Given the description of an element on the screen output the (x, y) to click on. 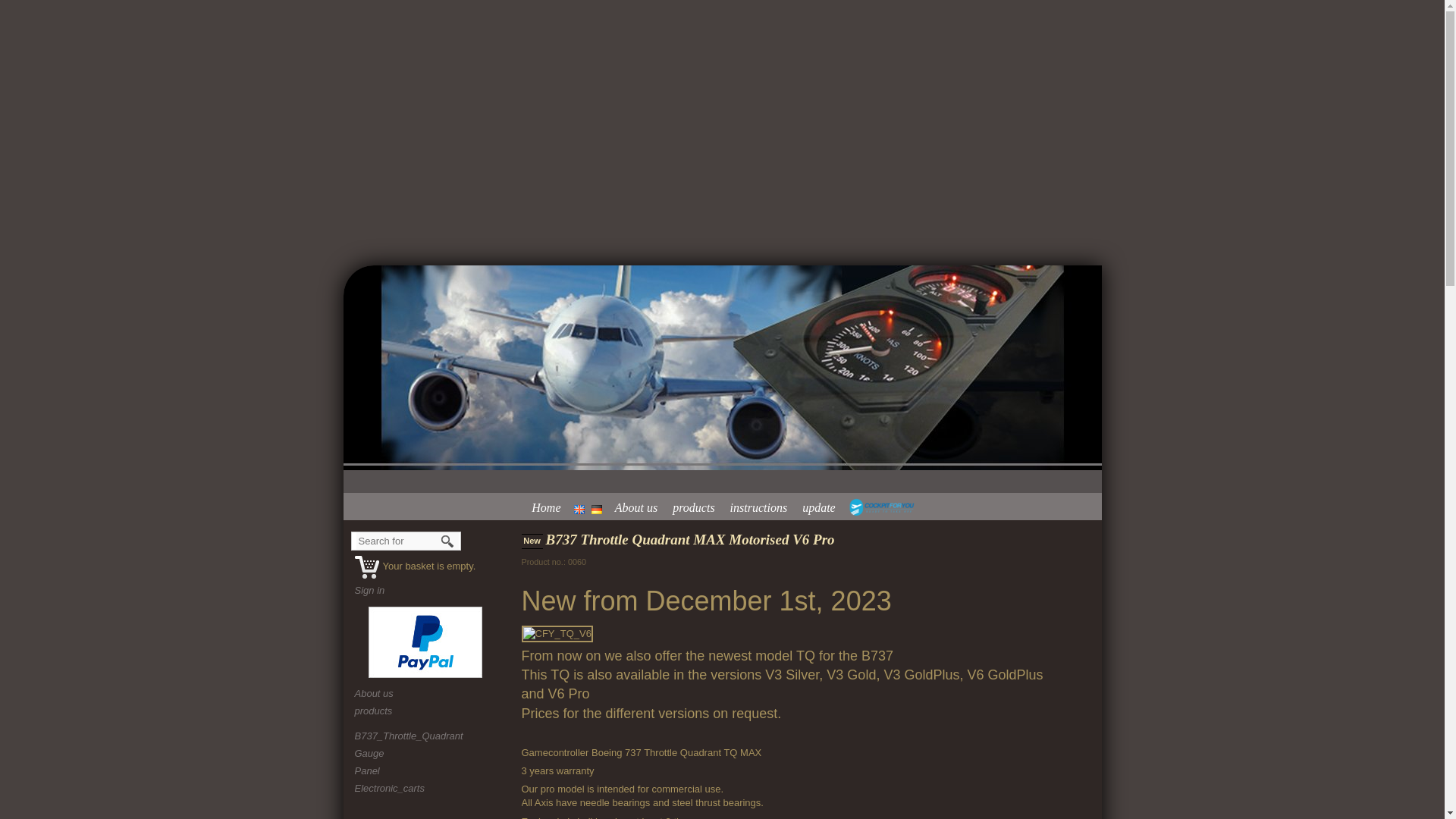
update (822, 506)
This shop supports payment via PayPal. (424, 642)
Sign in (370, 590)
products (427, 711)
products (697, 506)
Gauge (369, 753)
instructions (762, 506)
Start search (448, 541)
About us (427, 694)
About us (639, 506)
Panel (367, 770)
Home (549, 506)
